Given the description of an element on the screen output the (x, y) to click on. 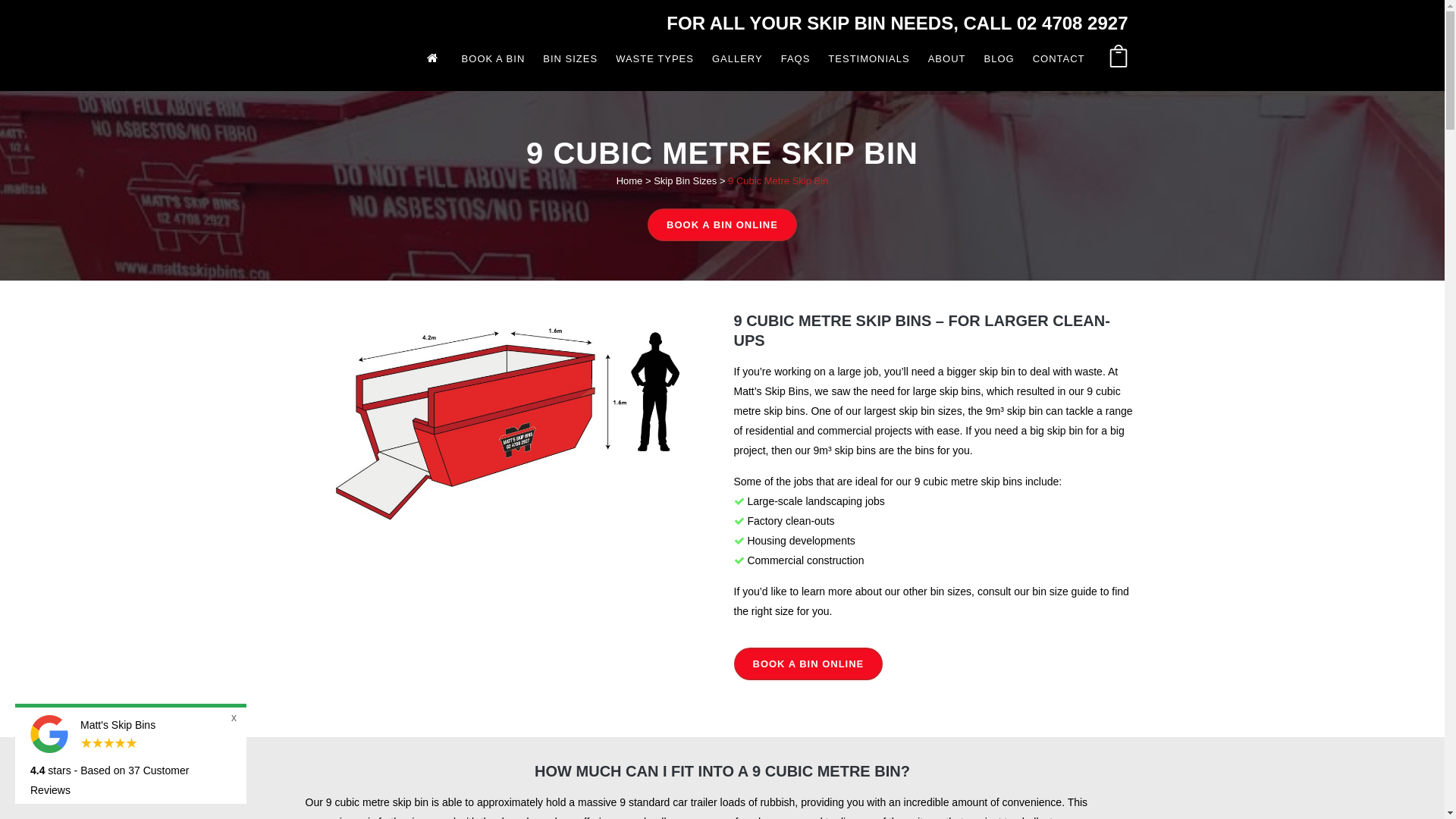
TESTIMONIALS Element type: text (868, 58)
Google Review Element type: hover (49, 734)
Skip Bin Sizes Element type: text (684, 180)
Matt's Skip Bins
4.4 stars - Based on 37 Customer Reviews Element type: text (130, 757)
BOOK A BIN ONLINE Element type: text (808, 663)
WASTE TYPES Element type: text (654, 58)
ABOUT Element type: text (947, 58)
FAQS Element type: text (795, 58)
Home Element type: text (629, 180)
02 4708 2927 Element type: text (1072, 22)
BOOK A BIN Element type: text (493, 58)
BOOK A BIN ONLINE Element type: text (722, 224)
BIN SIZES Element type: text (569, 58)
BLOG Element type: text (999, 58)
Star Rating Element type: hover (108, 742)
GALLERY Element type: text (736, 58)
CONTACT Element type: text (1058, 58)
